Given the description of an element on the screen output the (x, y) to click on. 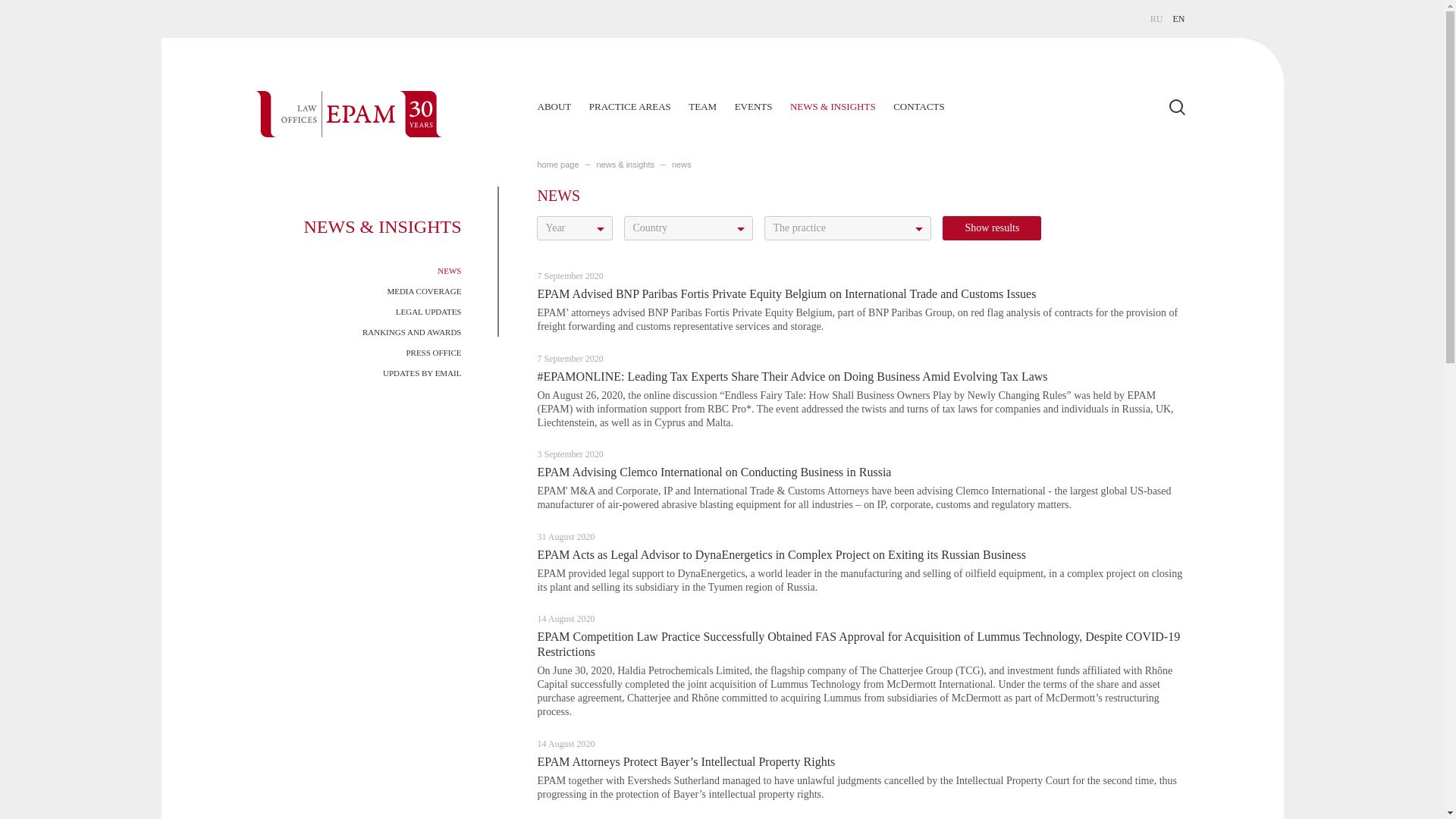
CONTACTS (918, 106)
RU (1156, 18)
ABOUT (553, 106)
PRACTICE AREAS (630, 106)
TEAM (702, 106)
EVENTS (754, 106)
